Given the description of an element on the screen output the (x, y) to click on. 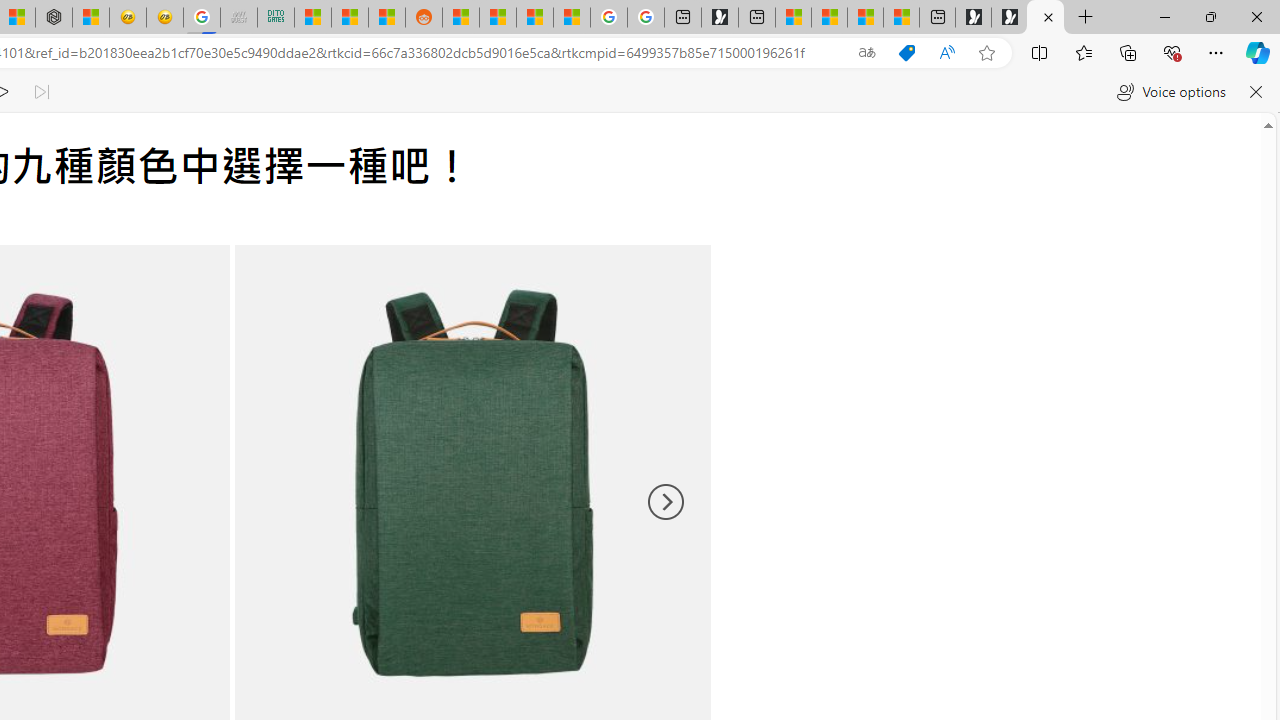
R******* | Trusted Community Engagement and Contributions (460, 17)
These 3 Stocks Pay You More Than 5% to Own Them (901, 17)
Close read aloud (1255, 92)
